Given the description of an element on the screen output the (x, y) to click on. 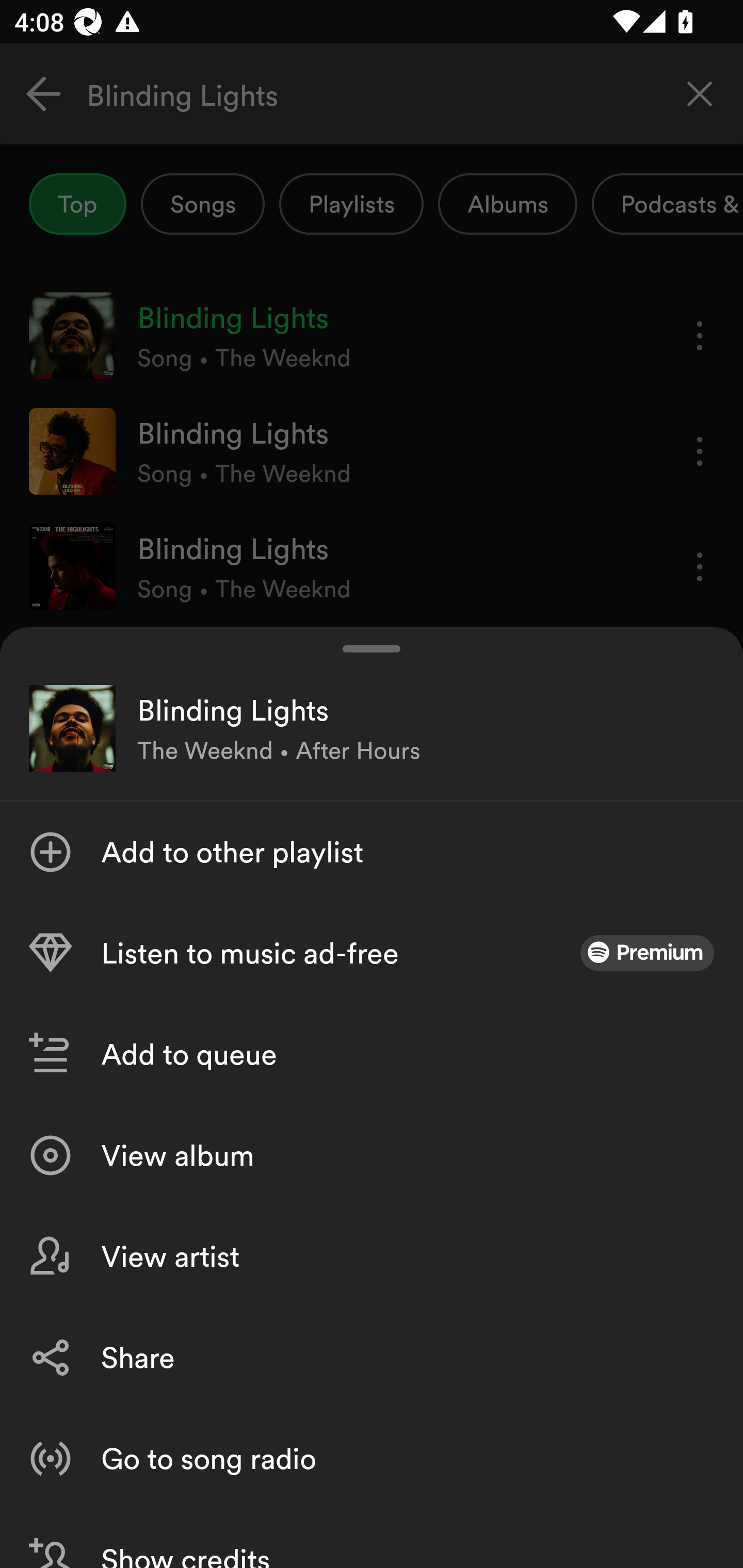
Add to other playlist (371, 852)
Listen to music ad-free (371, 953)
Add to queue (371, 1054)
View album (371, 1155)
View artist (371, 1256)
Share (371, 1357)
Go to song radio (371, 1458)
Show credits (371, 1538)
